Given the description of an element on the screen output the (x, y) to click on. 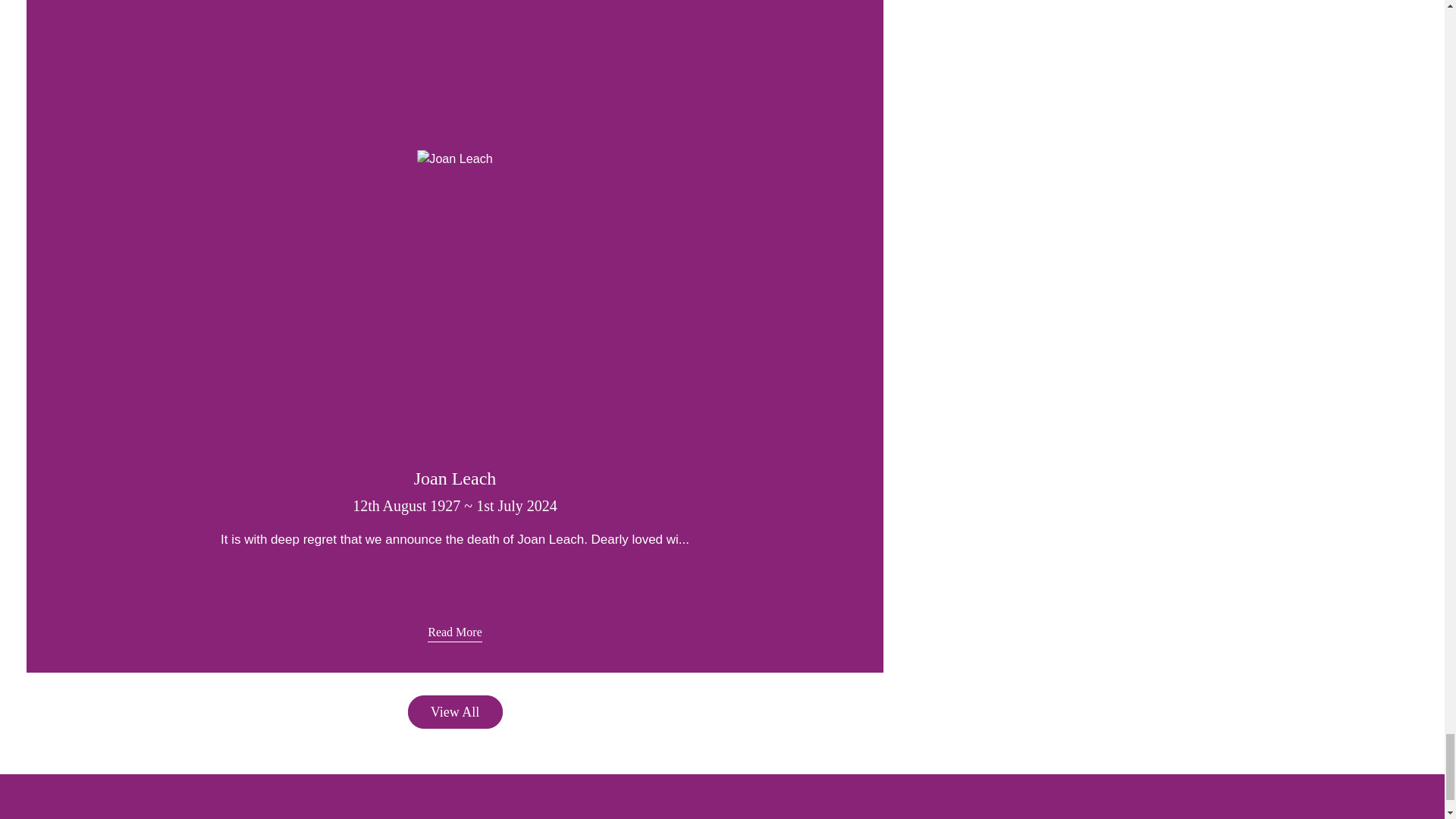
View All (454, 711)
